Given the description of an element on the screen output the (x, y) to click on. 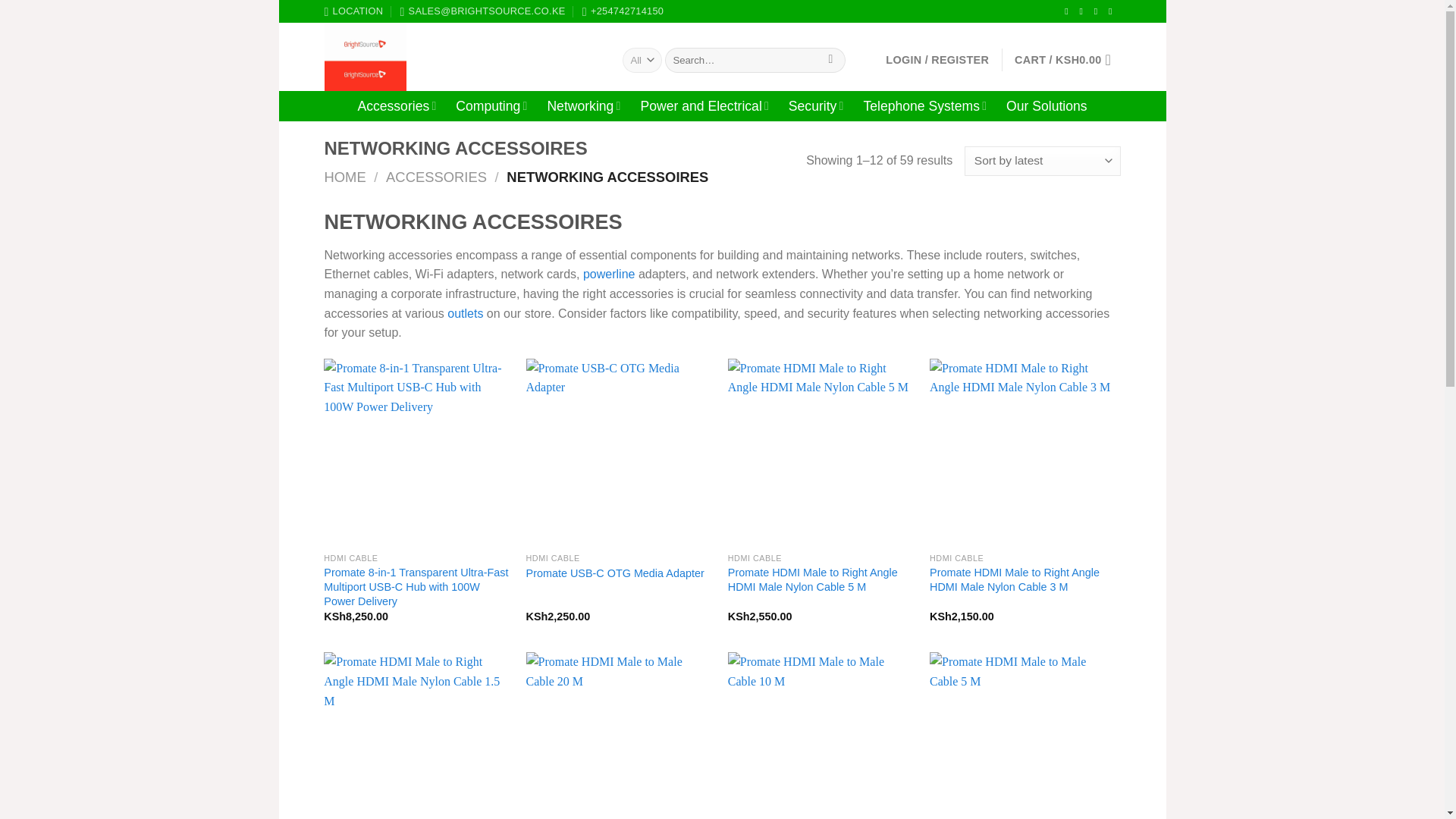
Search (830, 60)
KIMATHI STREET (354, 11)
Brightsource Kenya - Technology Everyday (461, 56)
LOCATION (354, 11)
Accessories (395, 105)
Computing (491, 105)
